Given the description of an element on the screen output the (x, y) to click on. 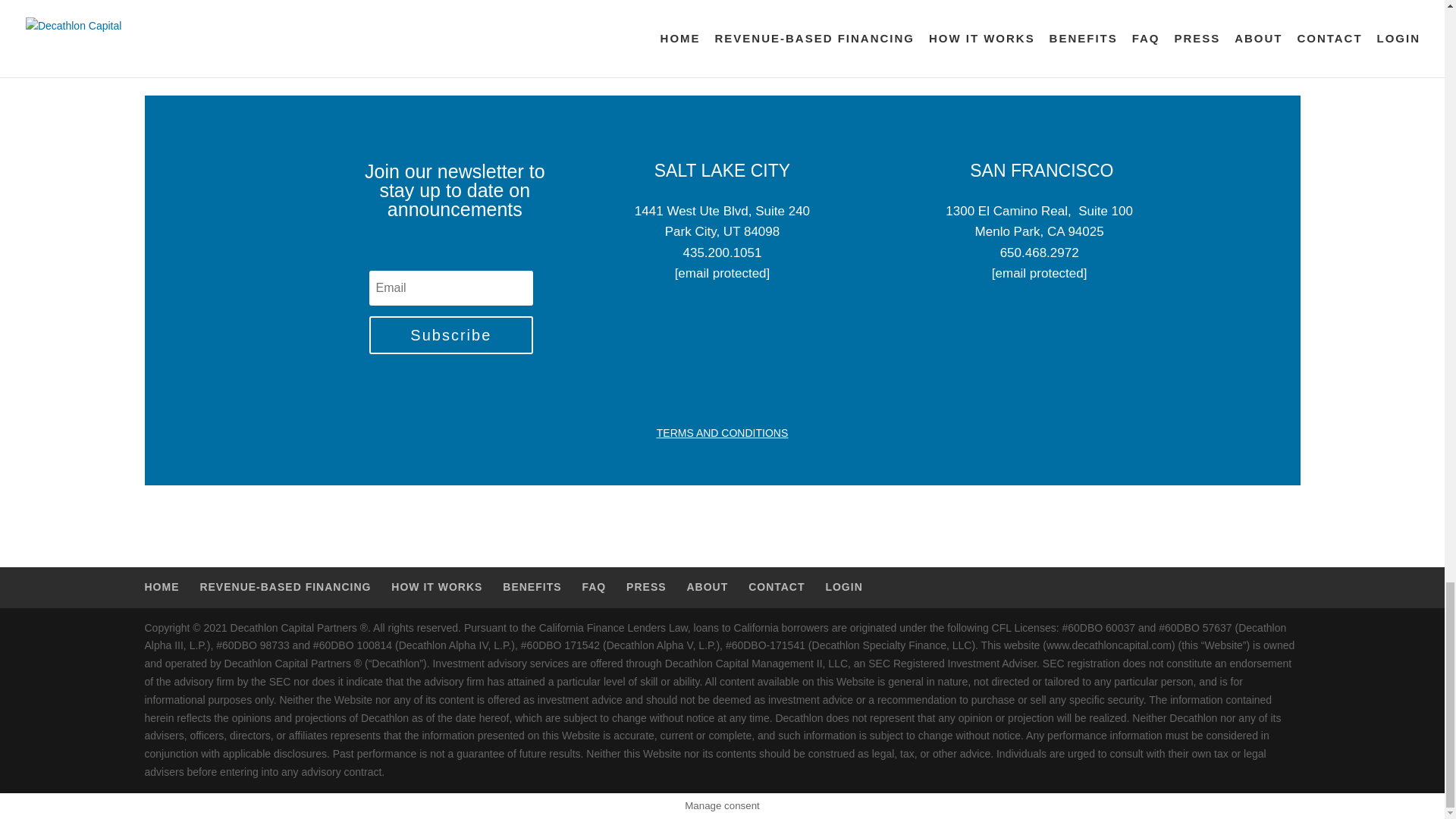
PRESS (645, 586)
CONTACT (776, 586)
Subscribe (450, 334)
ABOUT (706, 586)
HOME (161, 586)
REVENUE-BASED FINANCING (285, 586)
HOW IT WORKS (436, 586)
Engage with Us (722, 7)
LOGIN (843, 586)
FAQ (592, 586)
BENEFITS (531, 586)
TERMS AND CONDITIONS (721, 432)
